Given the description of an element on the screen output the (x, y) to click on. 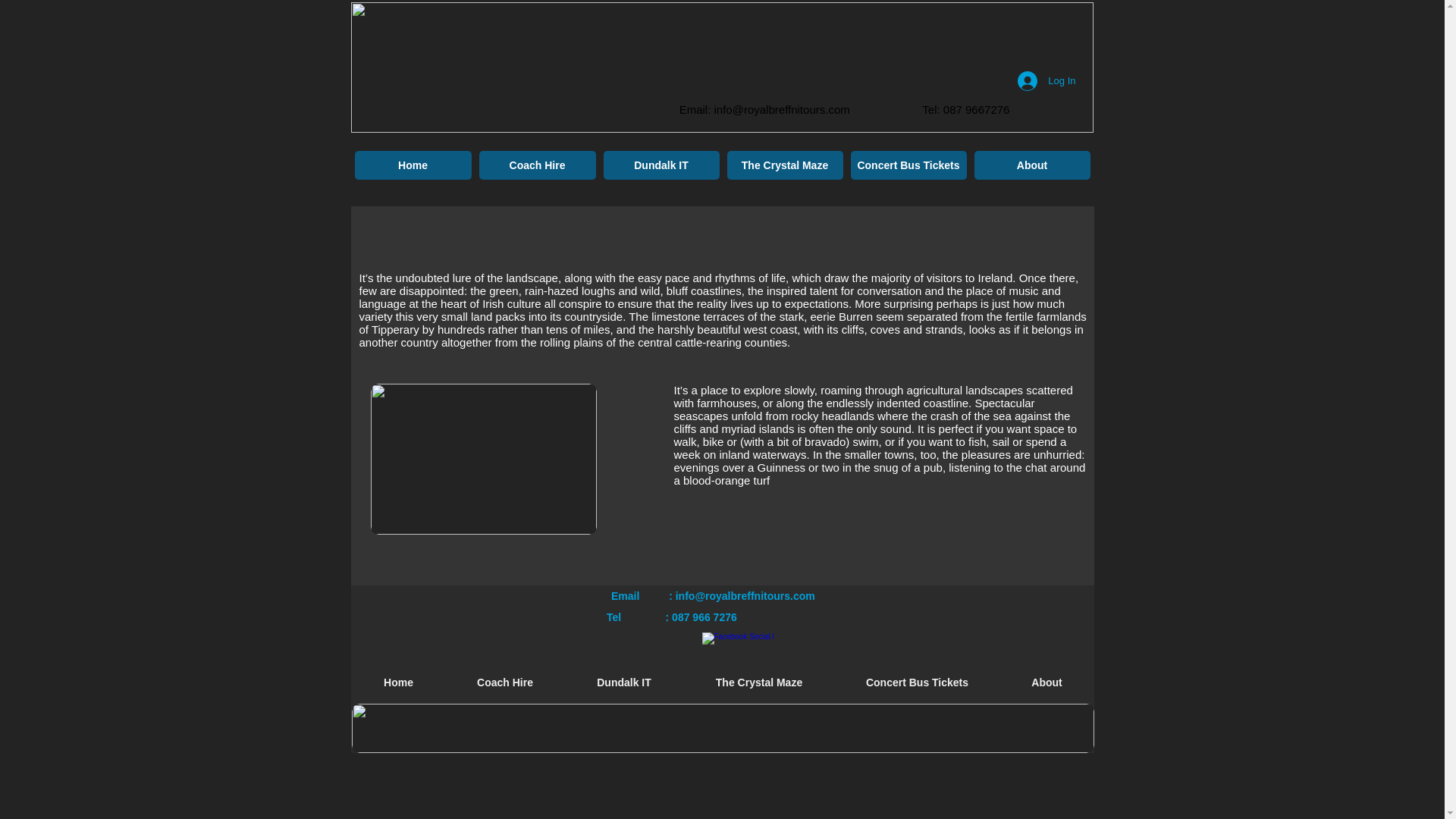
Concert Bus Tickets (908, 164)
About (1045, 682)
Coach Hire (537, 164)
Home (398, 682)
Dundalk IT (623, 682)
Dundalk IT (661, 164)
RBT Logo 009.png (721, 67)
About (1031, 164)
The Crystal Maze (784, 164)
Coach Hire (504, 682)
